Given the description of an element on the screen output the (x, y) to click on. 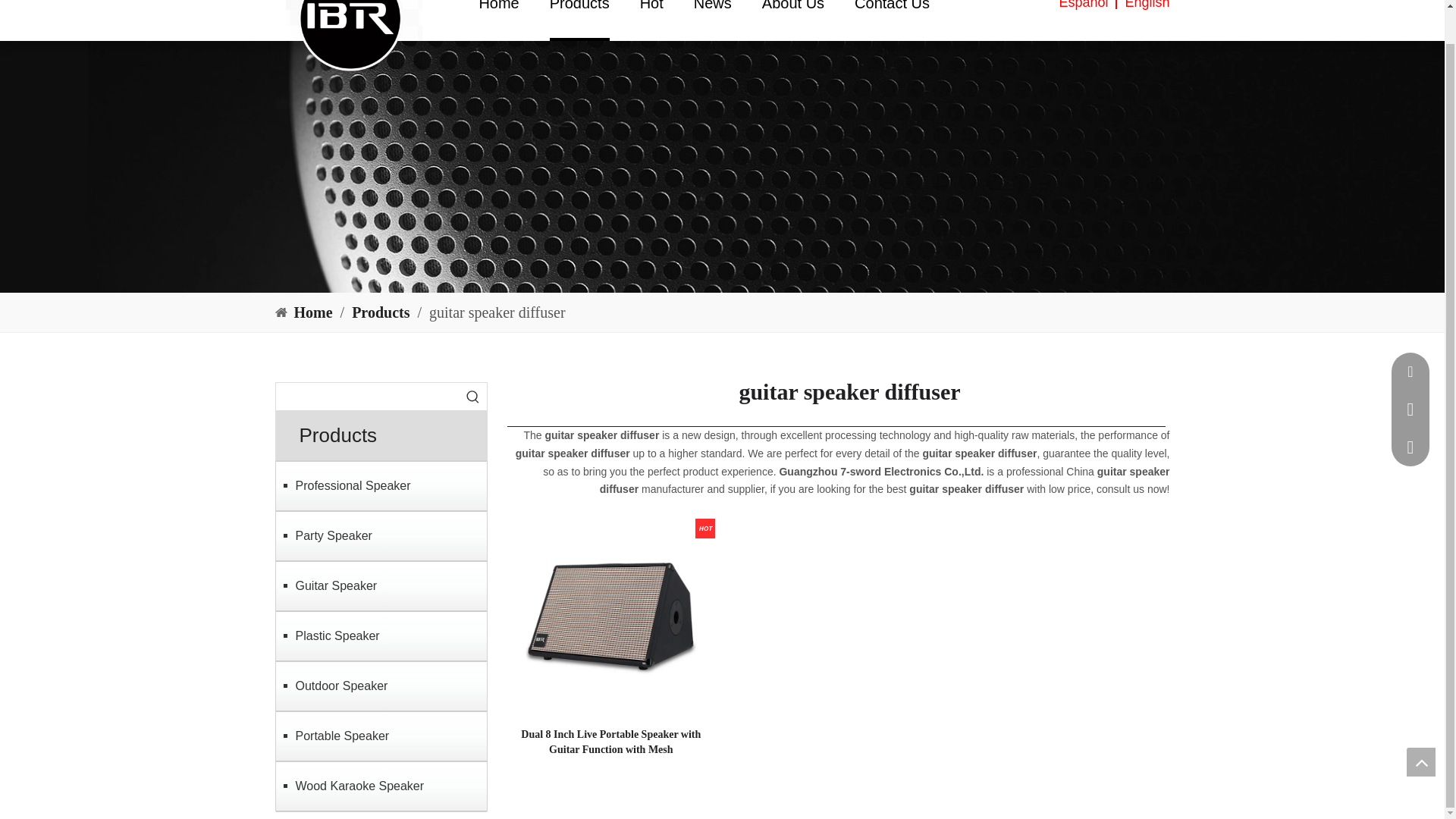
Plastic Speaker (381, 635)
Products (382, 312)
Products (580, 20)
Outdoor Speaker (381, 685)
Professional Speaker (381, 485)
Contact Us (892, 20)
Guitar Speaker (381, 585)
Wood Karaoke Speaker (381, 785)
Wood Karaoke Speaker (381, 785)
News (713, 20)
Portable Speaker (381, 735)
Plastic Speaker (381, 635)
Professional Speaker (381, 485)
Party Speaker (381, 535)
